Given the description of an element on the screen output the (x, y) to click on. 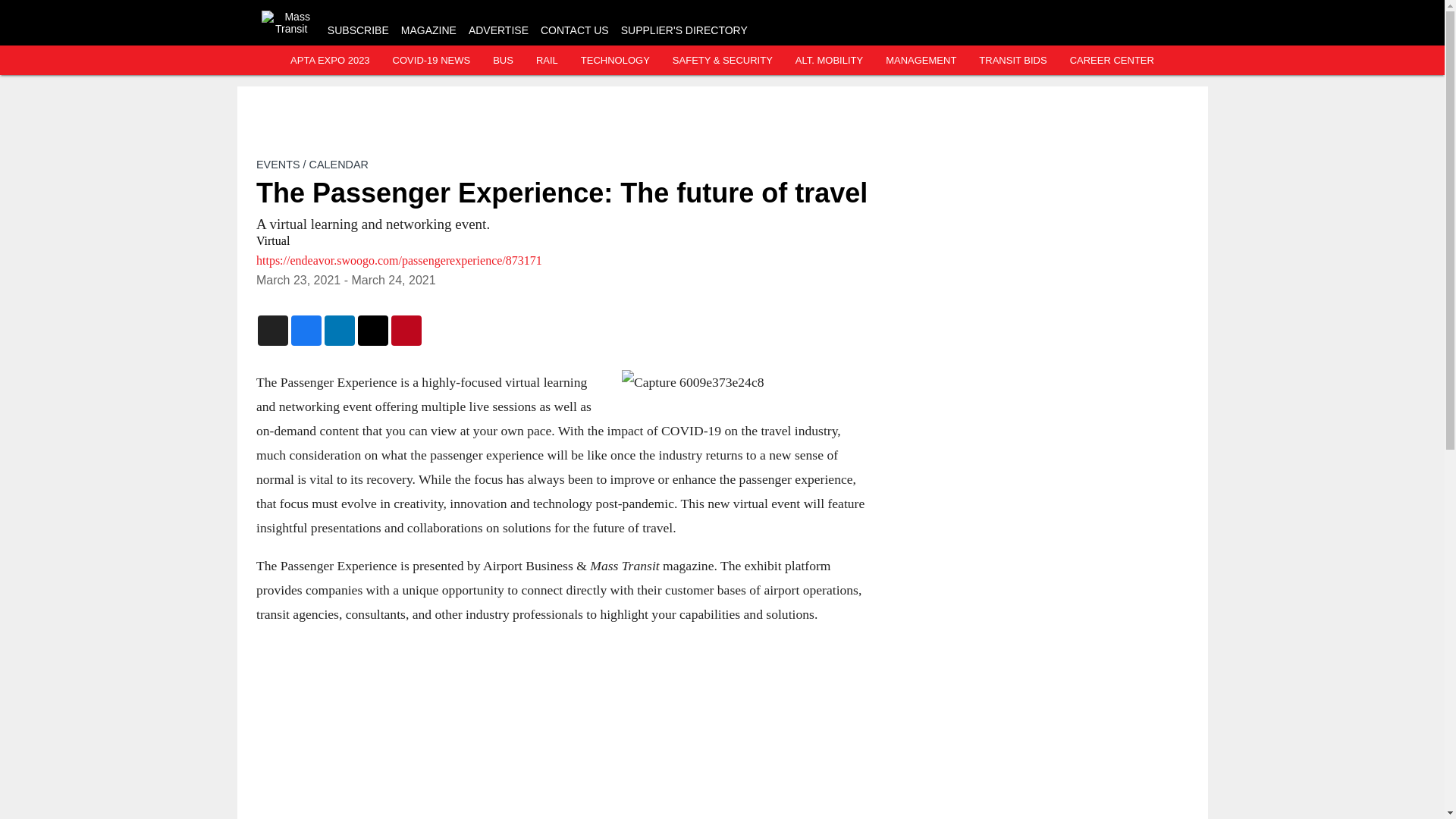
TRANSIT BIDS (1012, 60)
TECHNOLOGY (614, 60)
CONTACT US (574, 30)
ADVERTISE (498, 30)
COVID-19 NEWS (431, 60)
ALT. MOBILITY (828, 60)
APTA EXPO 2023 (329, 60)
SUBSCRIBE (357, 30)
SUPPLIER'S DIRECTORY (684, 30)
Capture 6009e373e24c8 (742, 381)
BUS (503, 60)
MANAGEMENT (920, 60)
RAIL (546, 60)
MAGAZINE (429, 30)
CAREER CENTER (1112, 60)
